Given the description of an element on the screen output the (x, y) to click on. 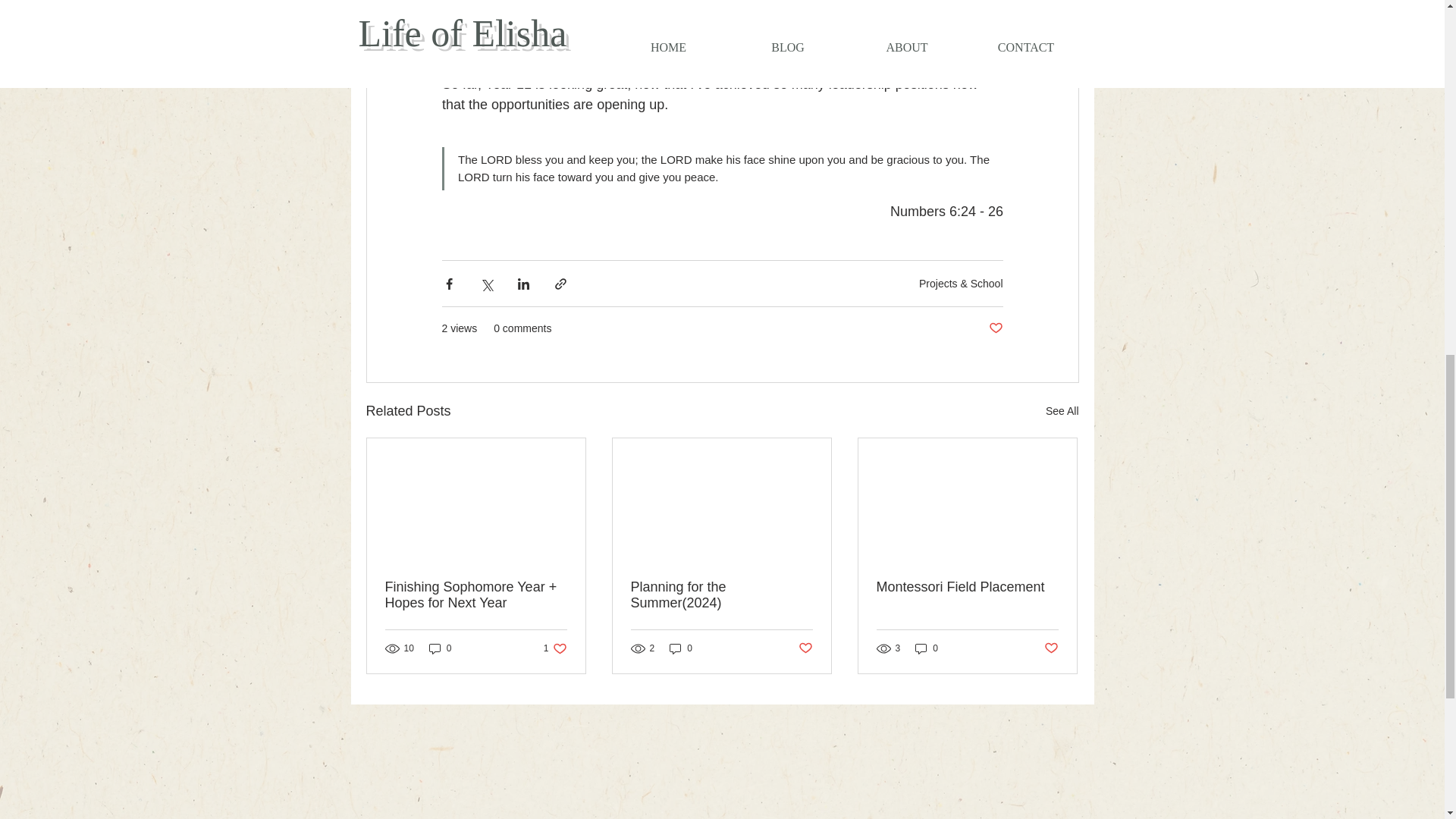
0 (926, 648)
Post not marked as liked (804, 648)
0 (681, 648)
Post not marked as liked (1050, 648)
See All (1061, 411)
Post not marked as liked (995, 328)
0 (440, 648)
Montessori Field Placement (555, 648)
